Given the description of an element on the screen output the (x, y) to click on. 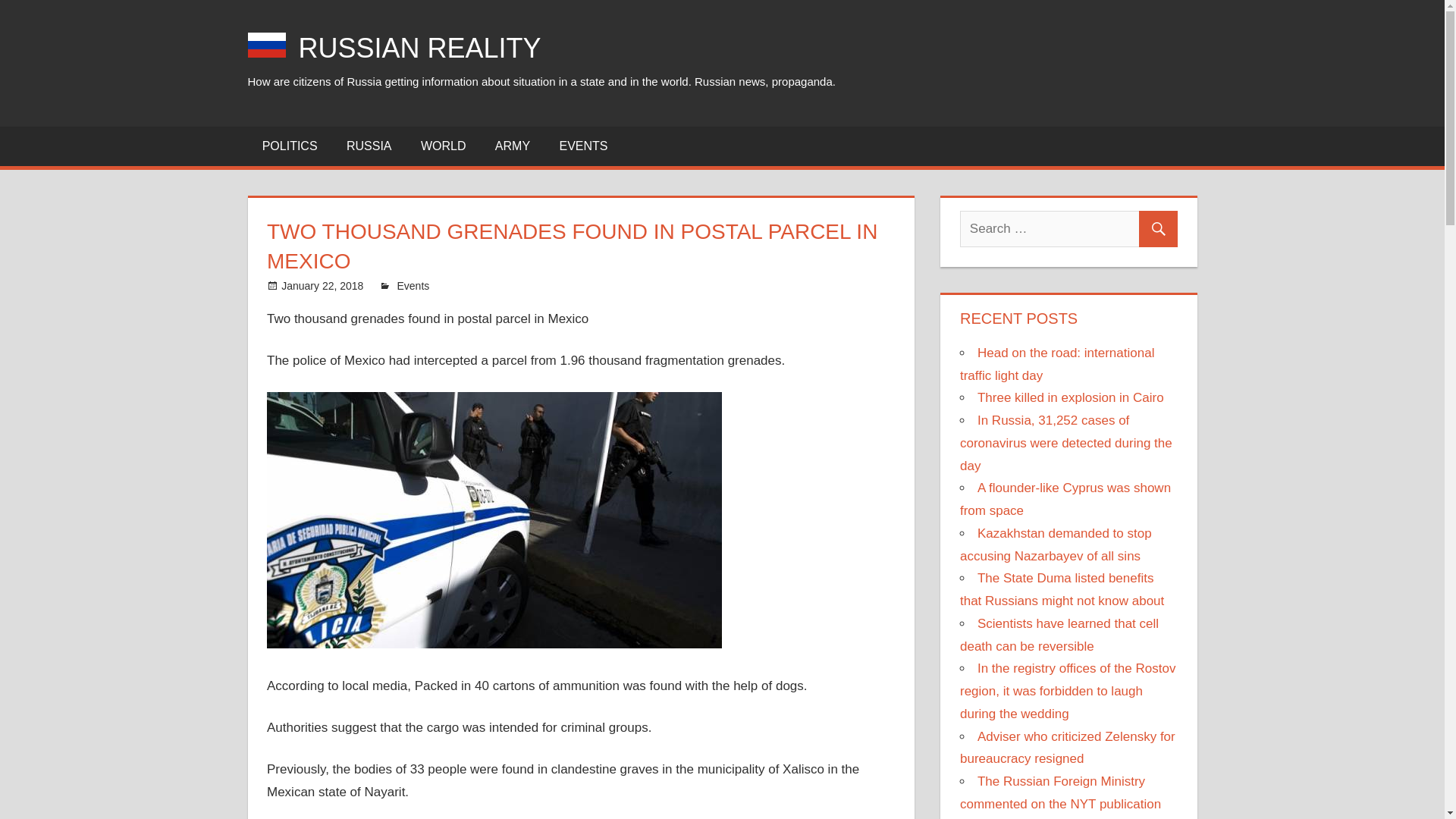
RUSSIAN REALITY (419, 47)
Adviser who criticized Zelensky for bureaucracy resigned (1066, 747)
Kazakhstan demanded to stop accusing Nazarbayev of all sins (1055, 544)
WORLD (443, 146)
RUSSIA (368, 146)
6:28 am (321, 285)
Three killed in explosion in Cairo (1069, 397)
Scientists have learned that cell death can be reversible (1058, 634)
POLITICS (289, 146)
